Given the description of an element on the screen output the (x, y) to click on. 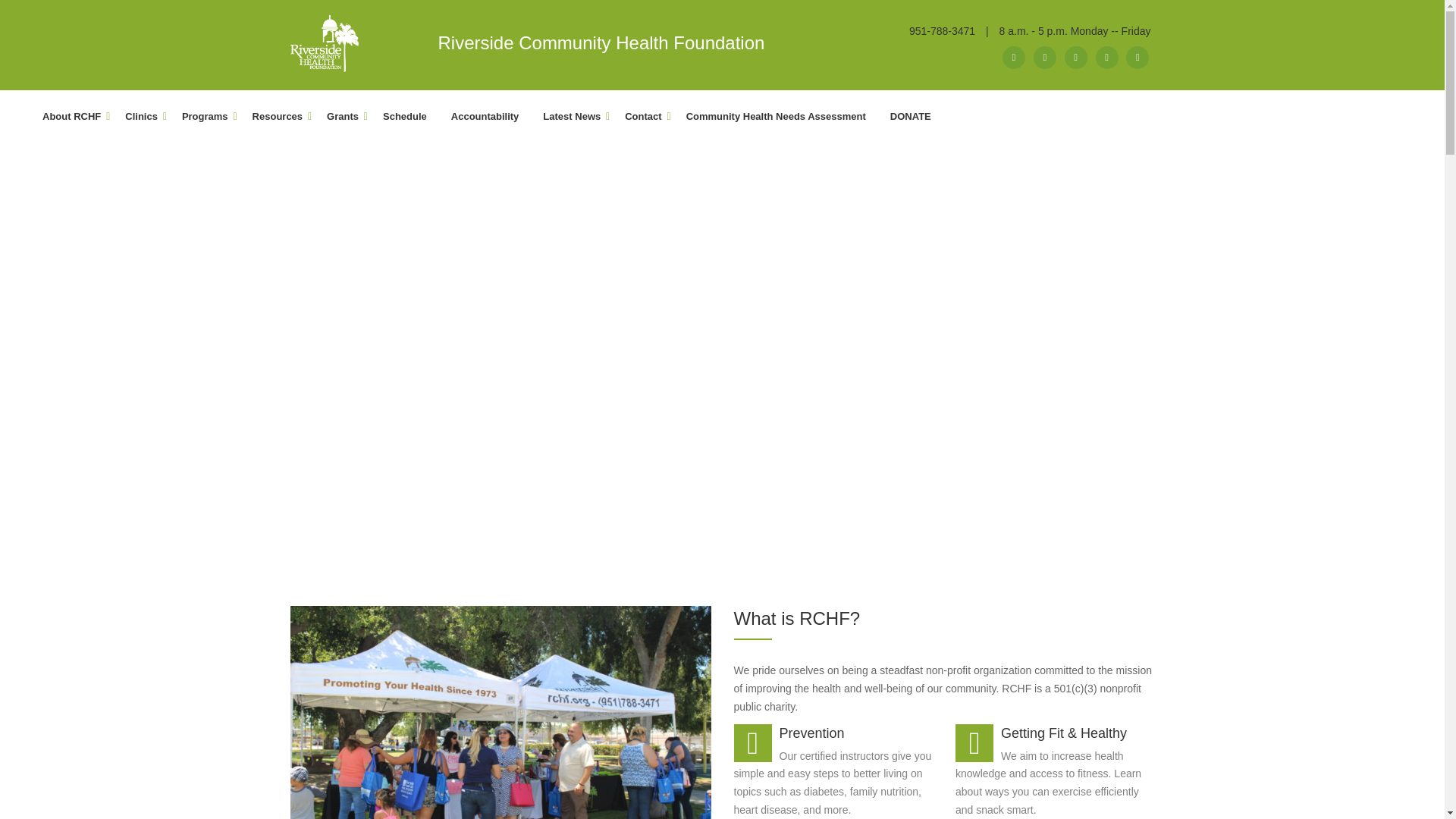
Accountability (485, 117)
8 a.m. - 5 p.m. Monday -- Friday (1074, 30)
Programs (205, 117)
Grants (342, 117)
Contact (642, 117)
Clinics (141, 117)
About RCHF (71, 117)
951-788-3471 (941, 30)
Latest News (571, 117)
